Given the description of an element on the screen output the (x, y) to click on. 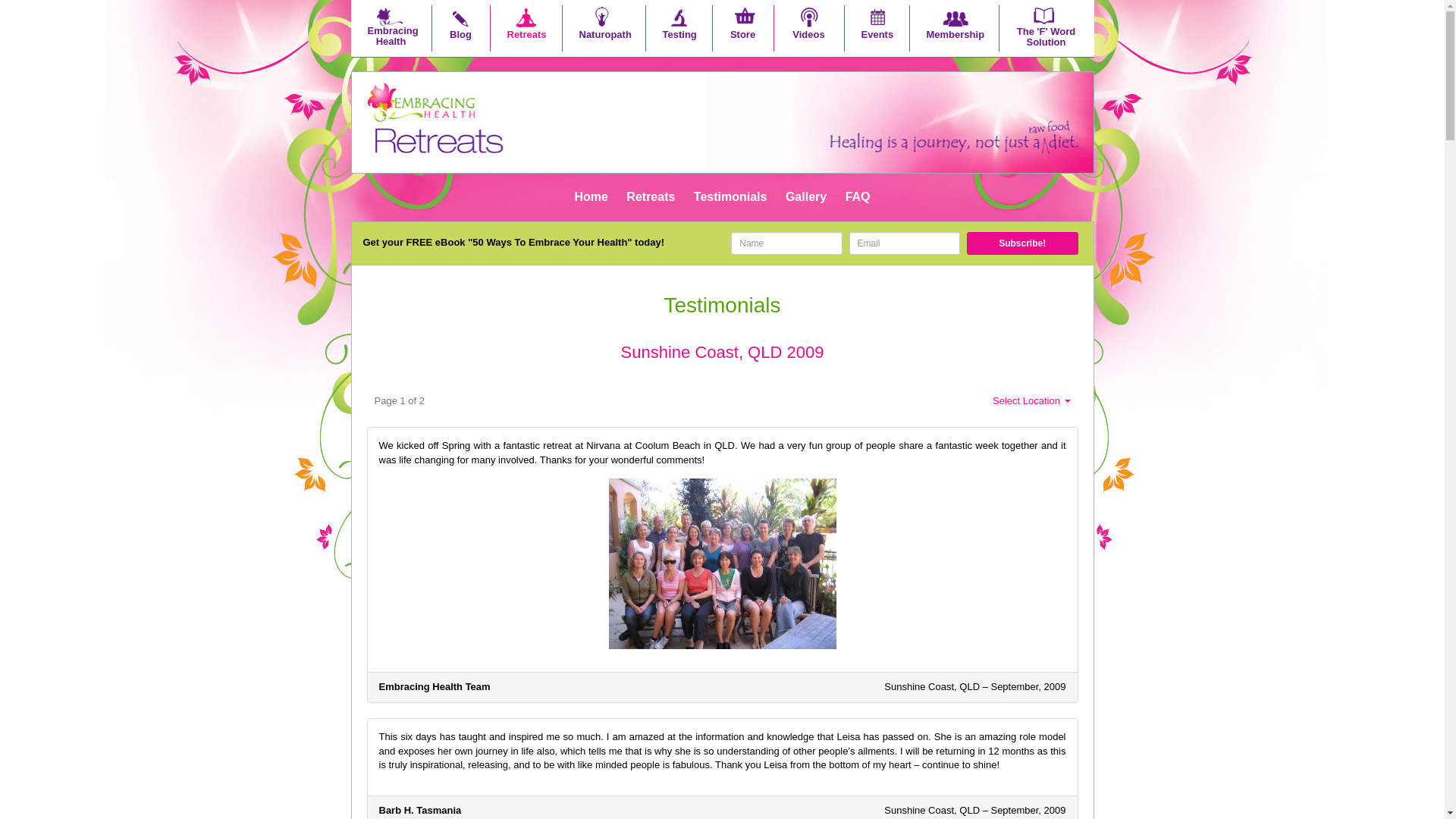
Embracing Health Element type: text (390, 29)
Page 1 of 2 Element type: text (400, 401)
Store Element type: text (742, 29)
FAQ Element type: text (857, 197)
Retreats Element type: text (650, 197)
Home Element type: text (590, 197)
The 'F' Word Solution Element type: text (1046, 29)
Events Element type: text (876, 29)
Select Location Element type: text (1031, 401)
Testing Element type: text (678, 29)
Videos Element type: text (808, 29)
Naturopath Element type: text (603, 29)
Retreats Element type: text (525, 29)
Subscribe! Element type: text (1022, 243)
Membership Element type: text (954, 29)
Testimonials Element type: text (730, 197)
Blog Element type: text (460, 29)
Gallery Element type: text (806, 197)
